Given the description of an element on the screen output the (x, y) to click on. 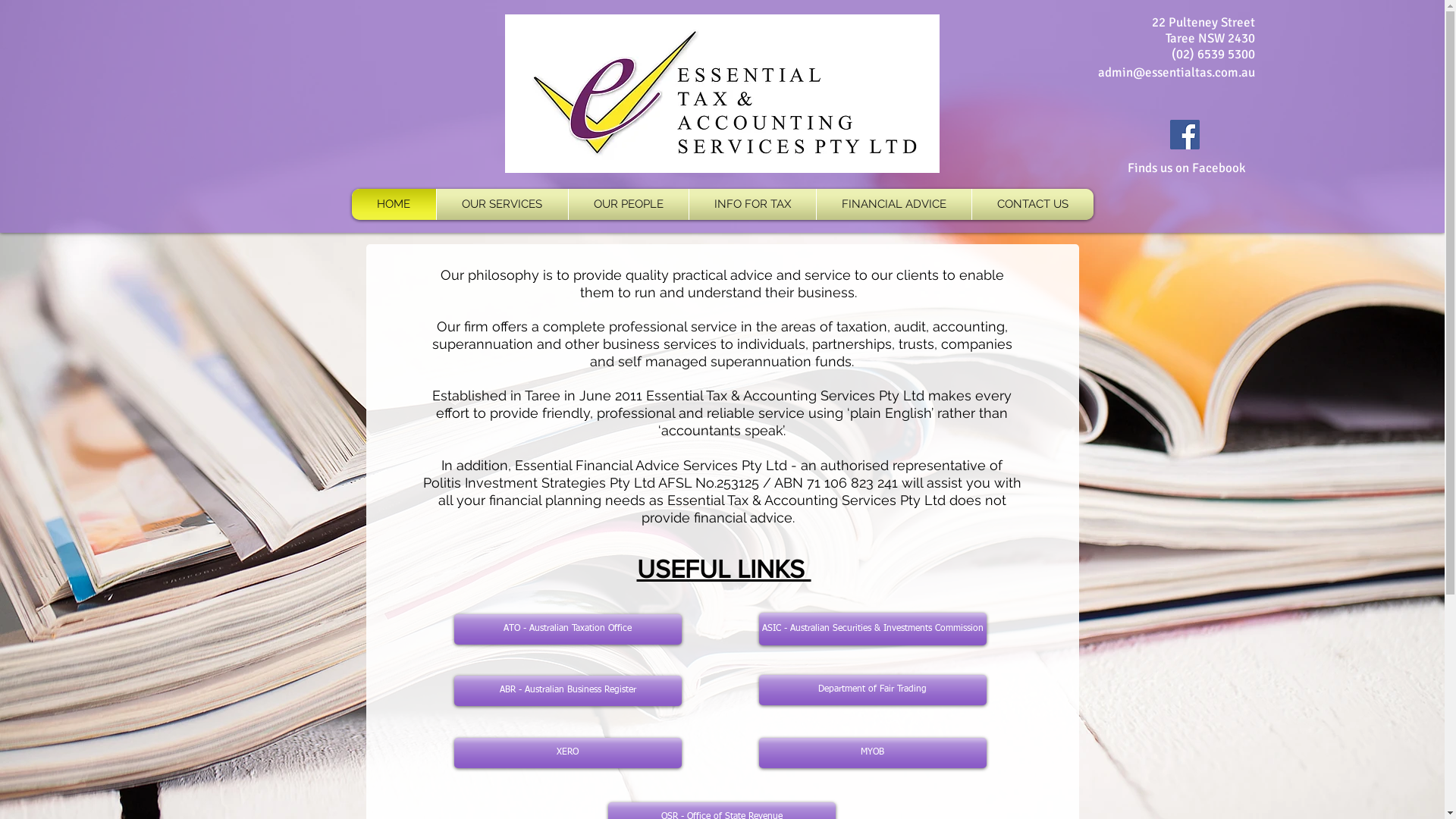
ASIC - Australian Securities & Investments Commission Element type: text (871, 628)
ABR - Australian Business Register Element type: text (566, 690)
ATO - Australian Taxation Office Element type: text (566, 629)
INFO FOR TAX Element type: text (752, 203)
HOME Element type: text (392, 203)
XERO Element type: text (566, 752)
CONTACT US Element type: text (1031, 203)
FINANCIAL ADVICE Element type: text (893, 203)
Department of Fair Trading Element type: text (871, 689)
OUR SERVICES Element type: text (501, 203)
MYOB Element type: text (871, 752)
admin@essentialtas.com.au Element type: text (1176, 72)
OUR PEOPLE Element type: text (627, 203)
